Given the description of an element on the screen output the (x, y) to click on. 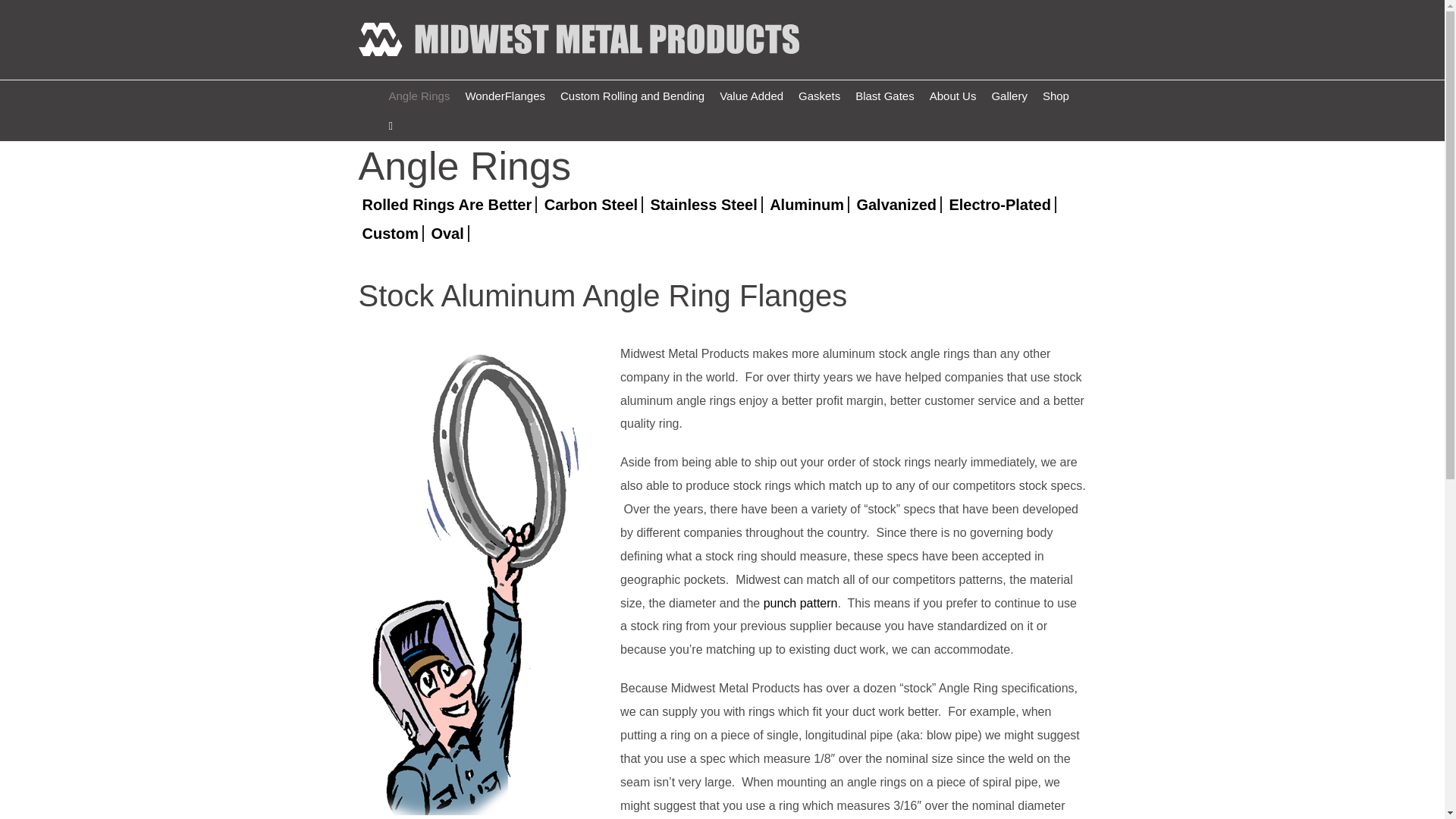
Gallery (1009, 95)
Gaskets (818, 95)
Custom Rolling and Bending (632, 95)
Stock Aluminum Angle Ring Flanges (722, 303)
About Us (952, 95)
Value Added (750, 95)
WonderFlanges (505, 95)
Angle Rings (418, 95)
Shop (1056, 95)
Blast Gates (884, 95)
